Given the description of an element on the screen output the (x, y) to click on. 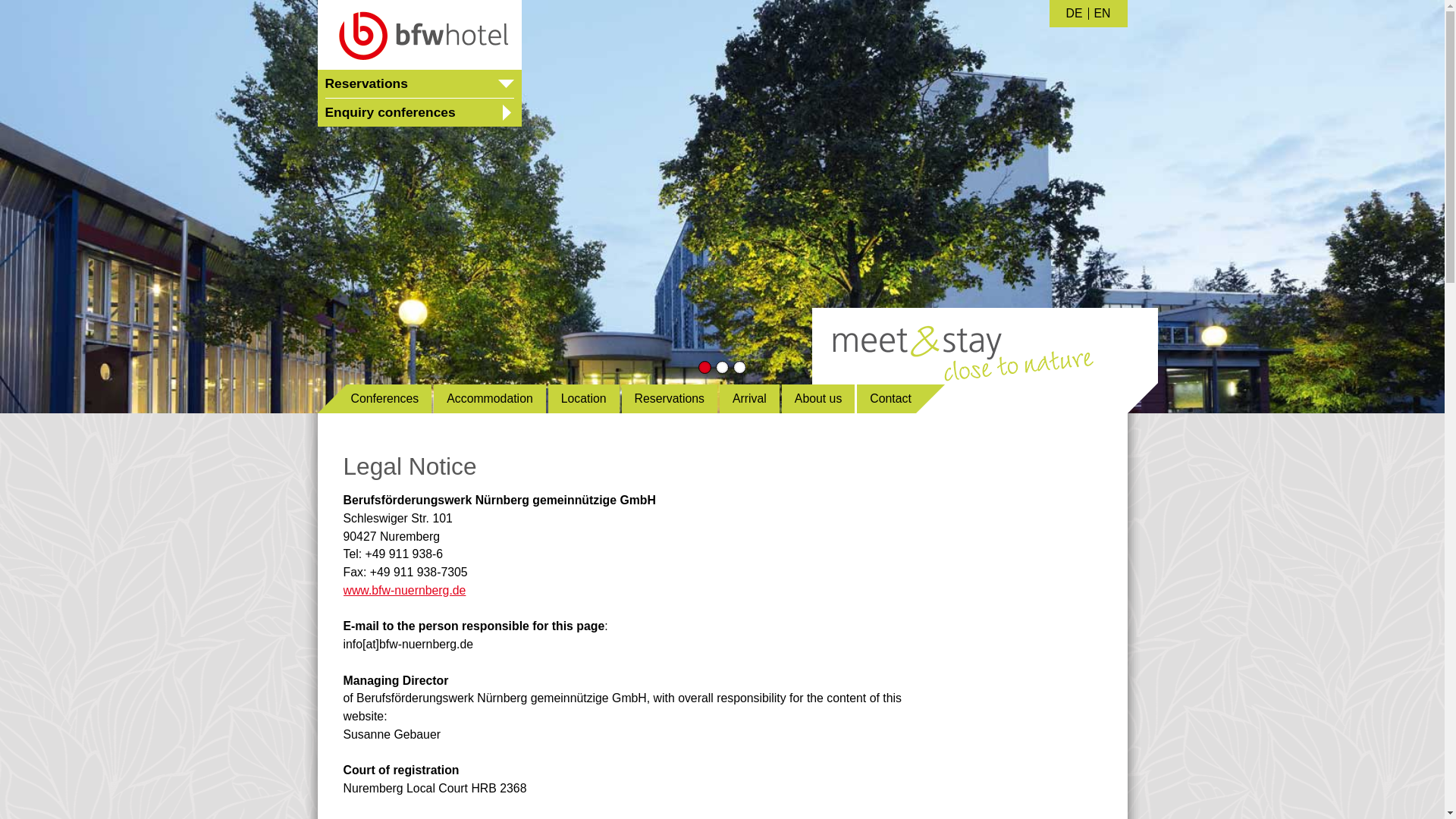
EN (1102, 13)
Arrival (748, 398)
Reservations (669, 398)
1 (704, 367)
2 (722, 367)
Location (584, 398)
BFW Hotel logo with link to homepage (419, 34)
www.bfw-nuernberg.de (403, 590)
Contact (900, 398)
3 (739, 367)
